Given the description of an element on the screen output the (x, y) to click on. 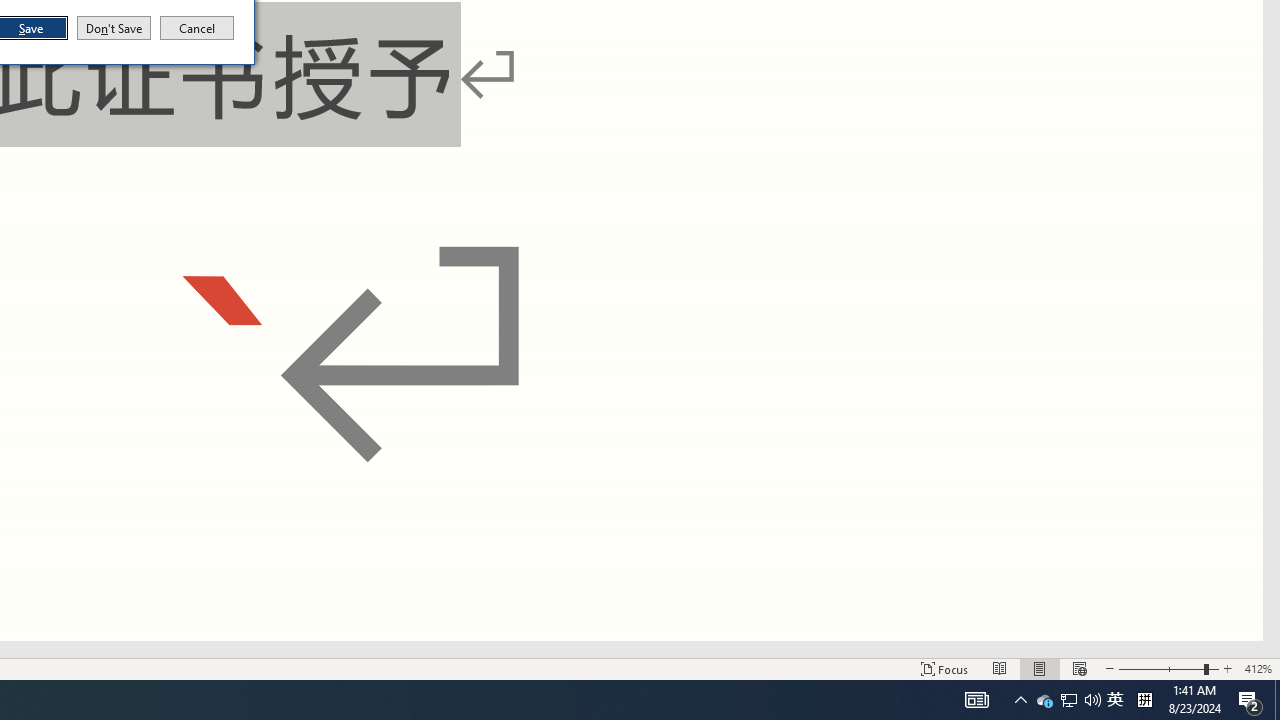
Tray Input Indicator - Chinese (Simplified, China) (1144, 699)
